Given the description of an element on the screen output the (x, y) to click on. 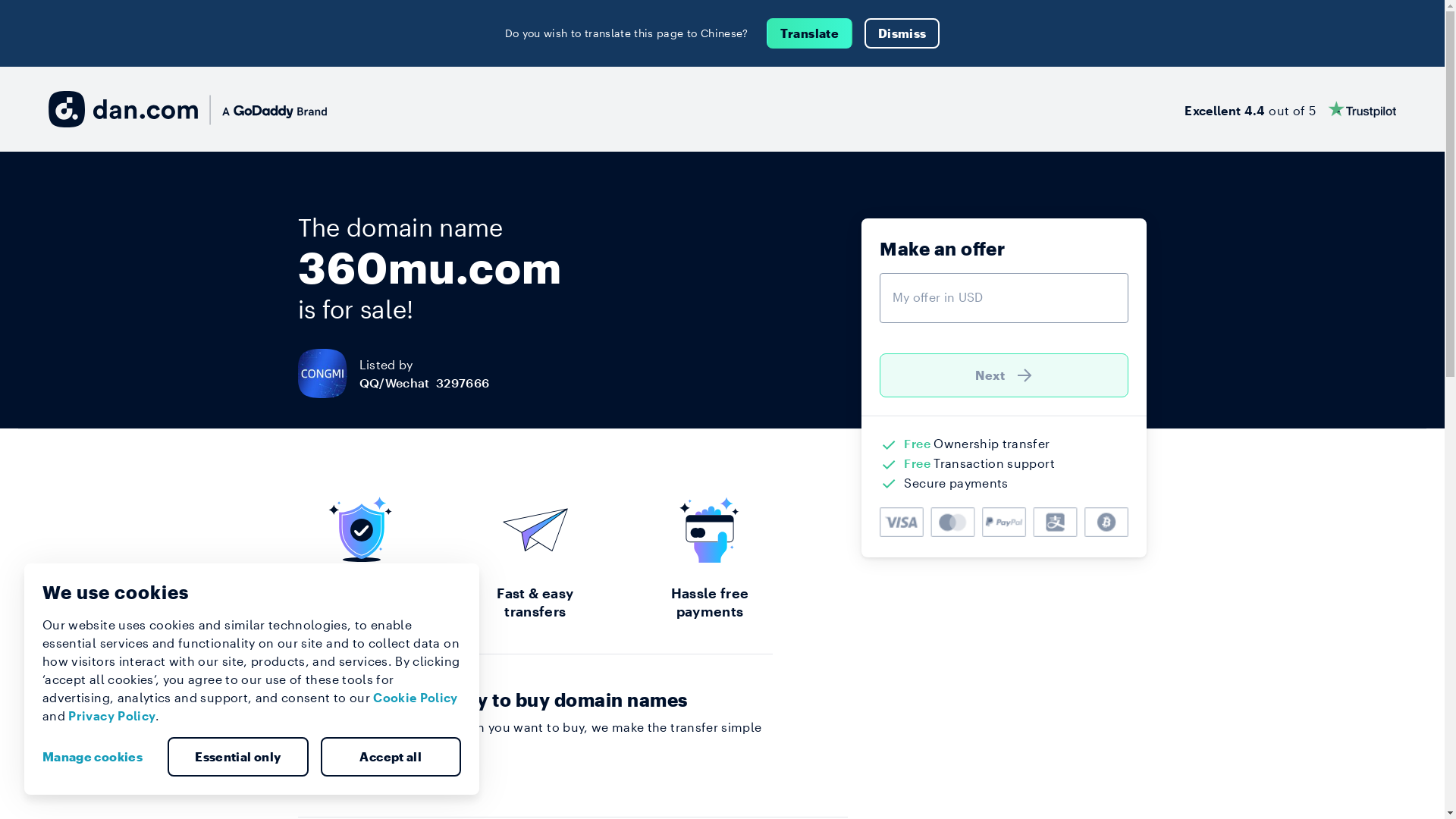
Dismiss Element type: text (901, 33)
Essential only Element type: text (237, 756)
Accept all Element type: text (390, 756)
Excellent 4.4 out of 5 Element type: text (1290, 109)
Privacy Policy Element type: text (111, 715)
Next
) Element type: text (1003, 375)
Translate Element type: text (809, 33)
Manage cookies Element type: text (98, 756)
Cookie Policy Element type: text (415, 697)
